Given the description of an element on the screen output the (x, y) to click on. 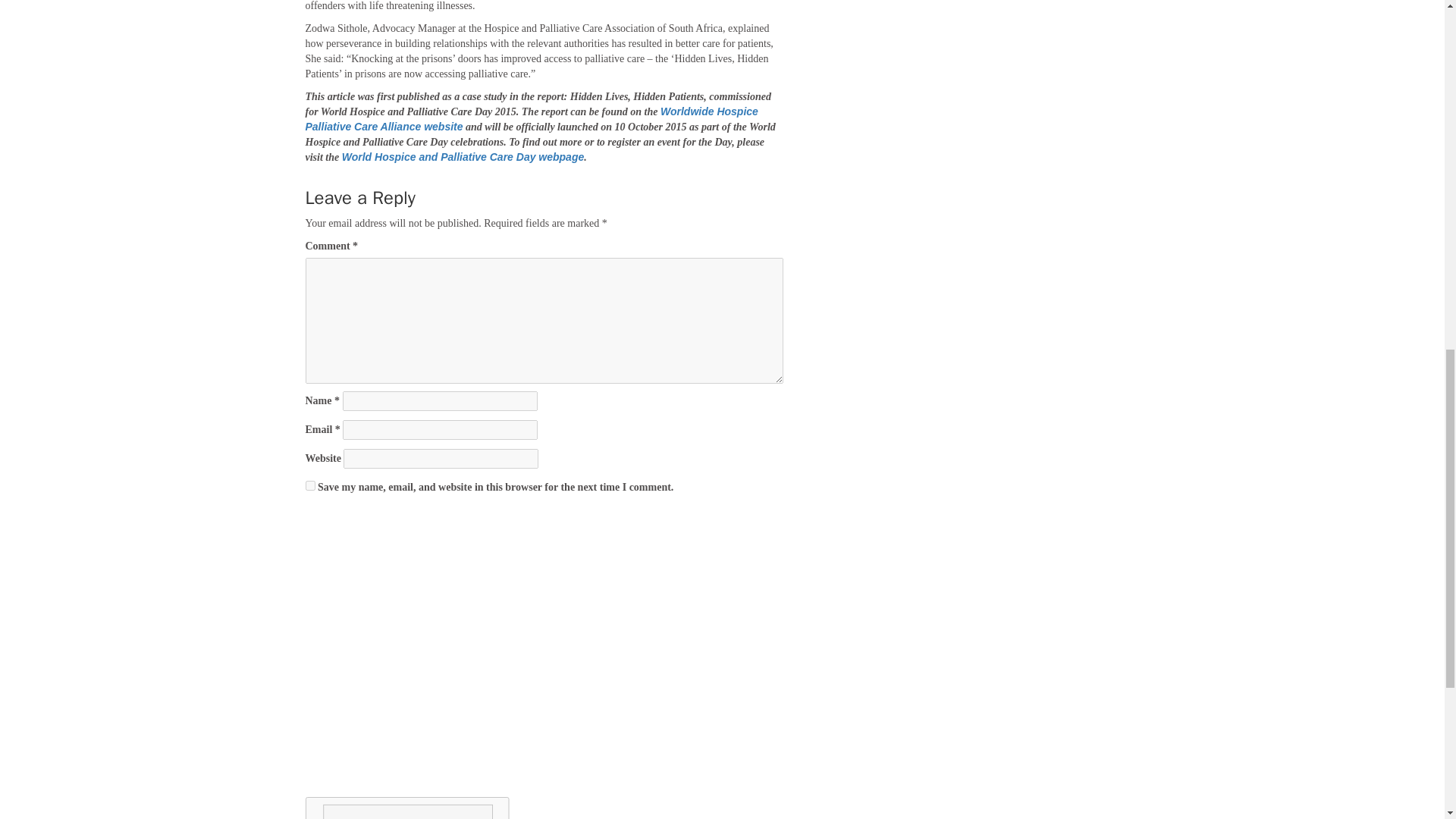
yes (309, 485)
